Given the description of an element on the screen output the (x, y) to click on. 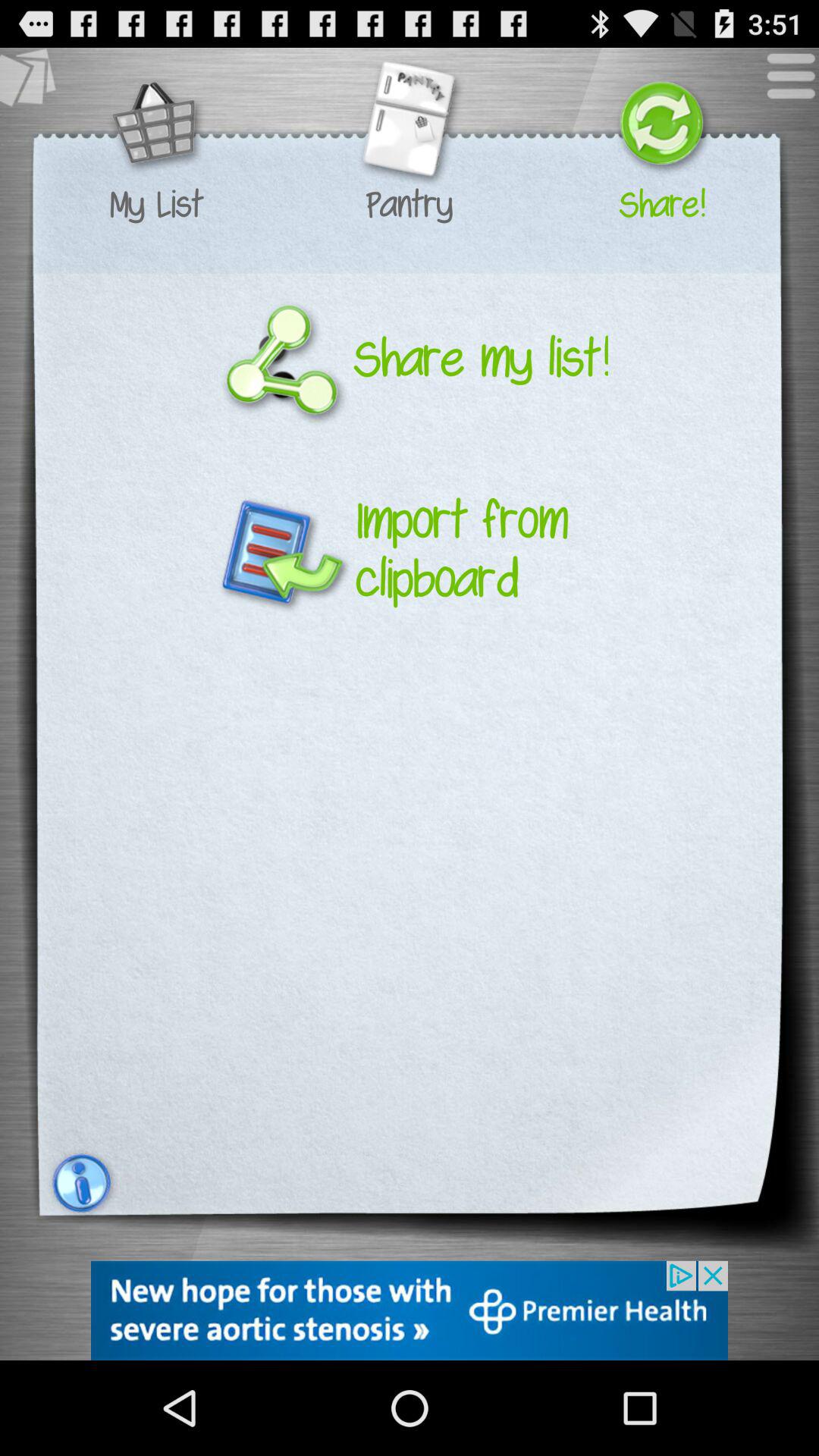
click to the menu (783, 83)
